Given the description of an element on the screen output the (x, y) to click on. 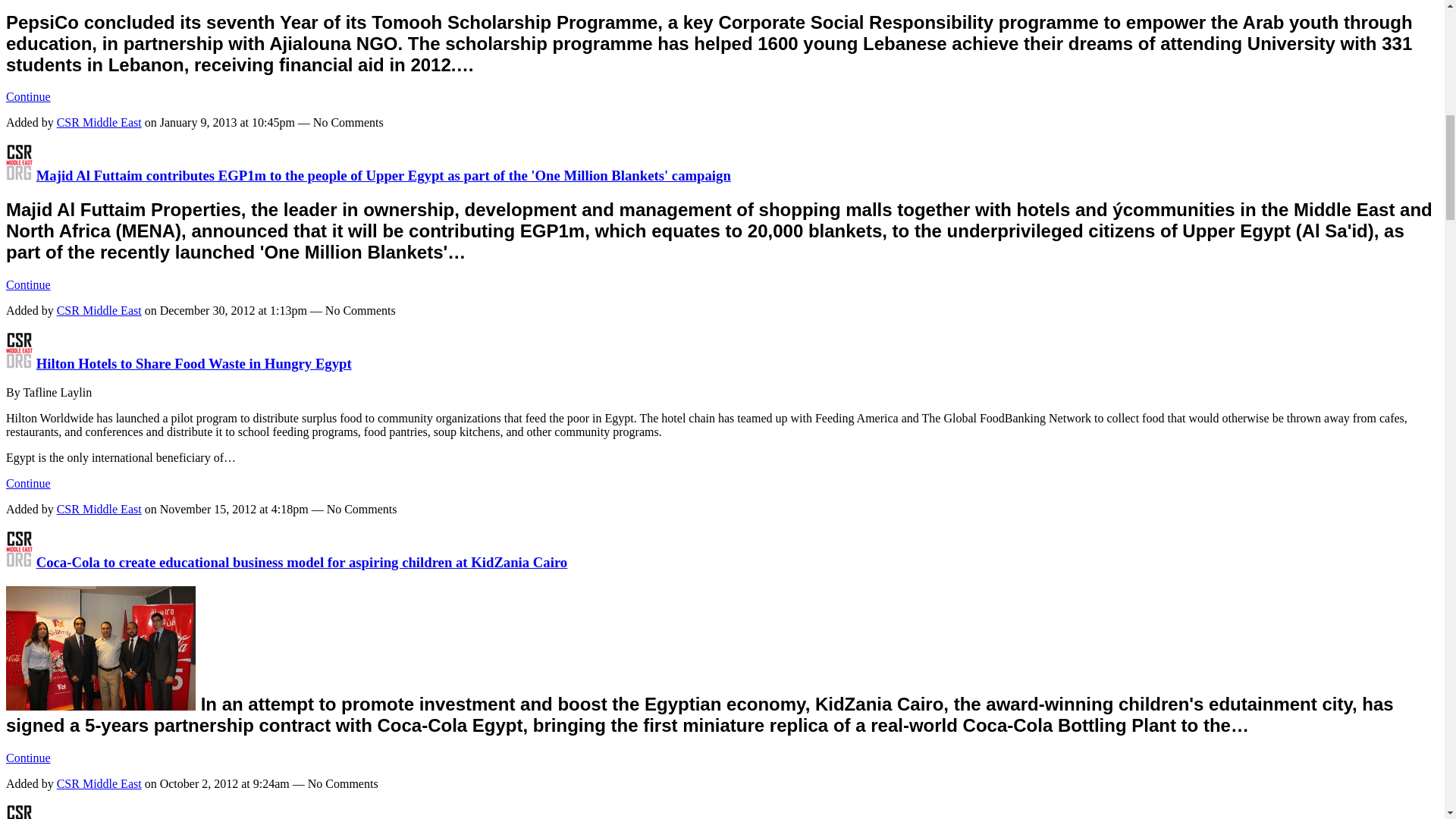
CSR Middle East (18, 562)
CSR Middle East (18, 363)
CSR Middle East (18, 175)
